Given the description of an element on the screen output the (x, y) to click on. 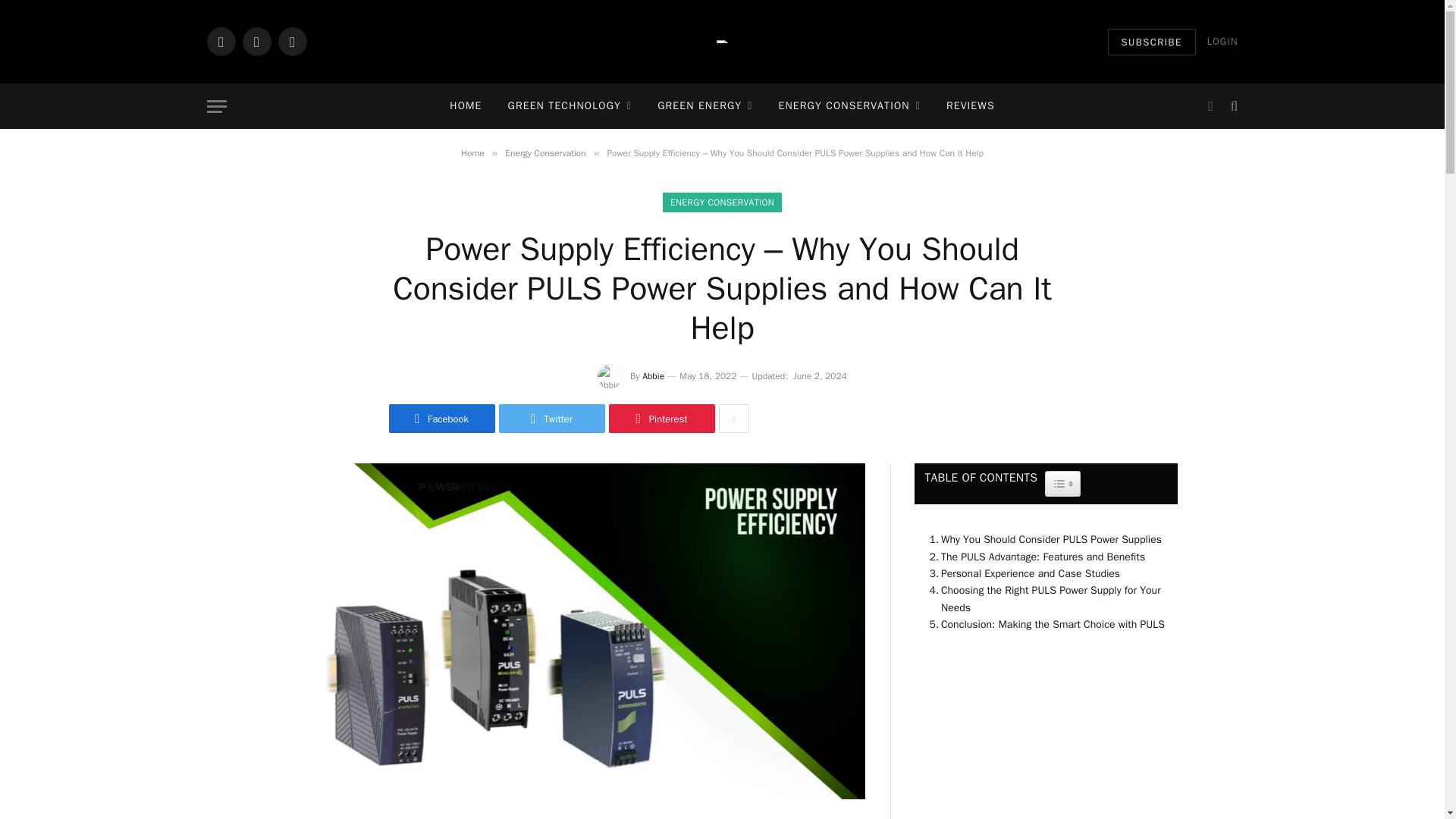
Share on Facebook (441, 418)
HOME (465, 105)
SUBSCRIBE (1151, 41)
ENERGY CONSERVATION (849, 105)
LOGIN (1223, 41)
YouTube (291, 41)
GREEN ENERGY (705, 105)
Share on Pinterest (661, 418)
REVIEWS (970, 105)
Facebook (220, 41)
Search (1232, 106)
Switch to Dark Design - easier on eyes. (1209, 106)
Posts by Abbie (652, 376)
Power Efficiency (722, 41)
GREEN TECHNOLOGY (570, 105)
